Given the description of an element on the screen output the (x, y) to click on. 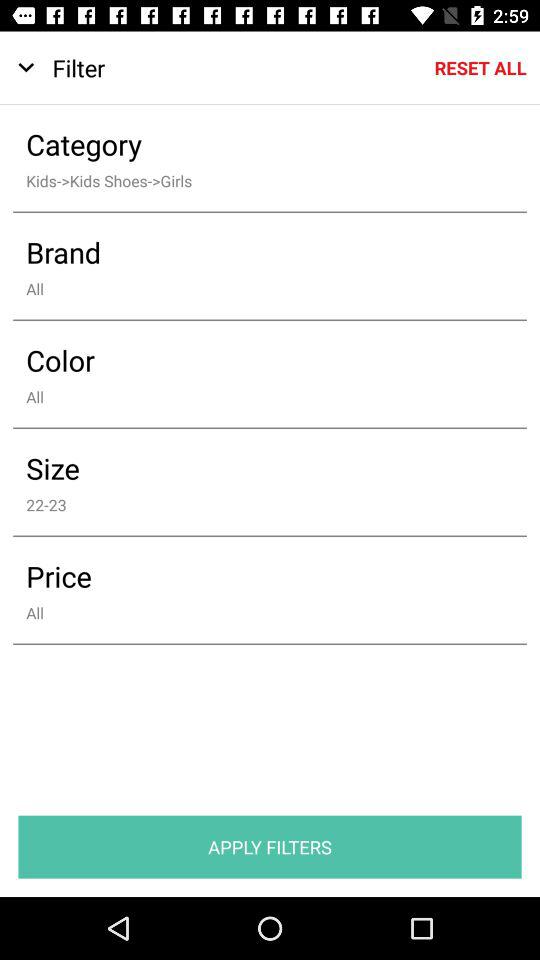
flip until size icon (256, 467)
